Given the description of an element on the screen output the (x, y) to click on. 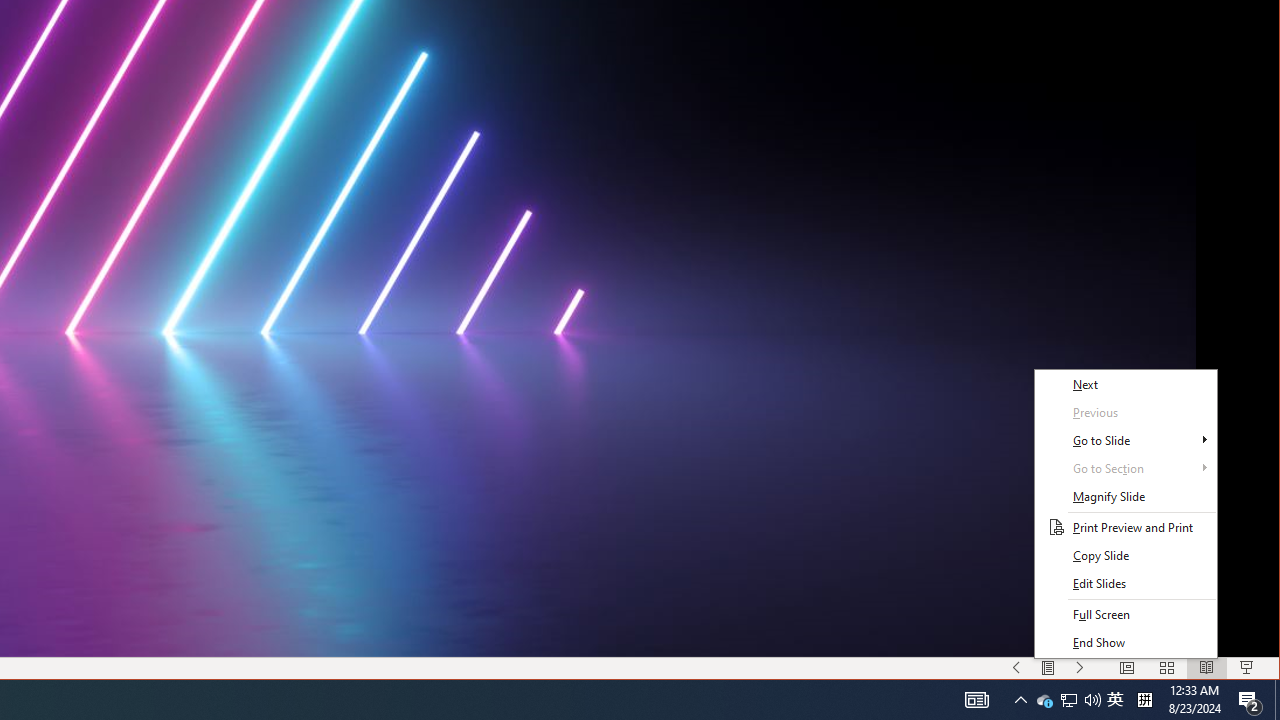
Context Menu (1126, 513)
Copy Slide (1125, 556)
End Show (1125, 642)
Edit Slides (1125, 584)
